Given the description of an element on the screen output the (x, y) to click on. 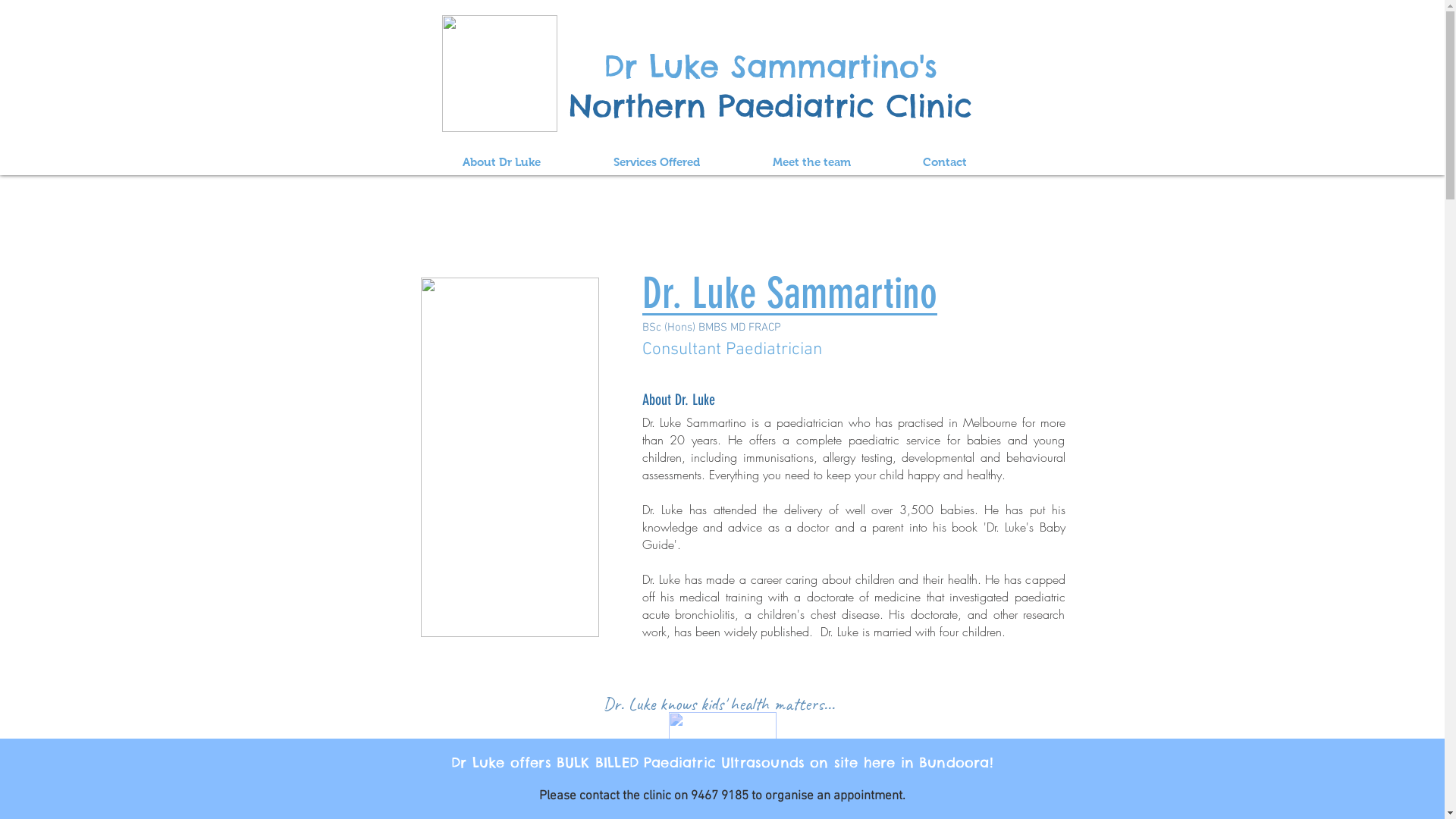
luke.jpg Element type: hover (509, 457)
About Dr Luke Element type: text (501, 162)
Lollipop.jpg Element type: hover (498, 73)
Contact Element type: text (945, 162)
Meet the team Element type: text (810, 162)
Services Offered Element type: text (655, 162)
